Given the description of an element on the screen output the (x, y) to click on. 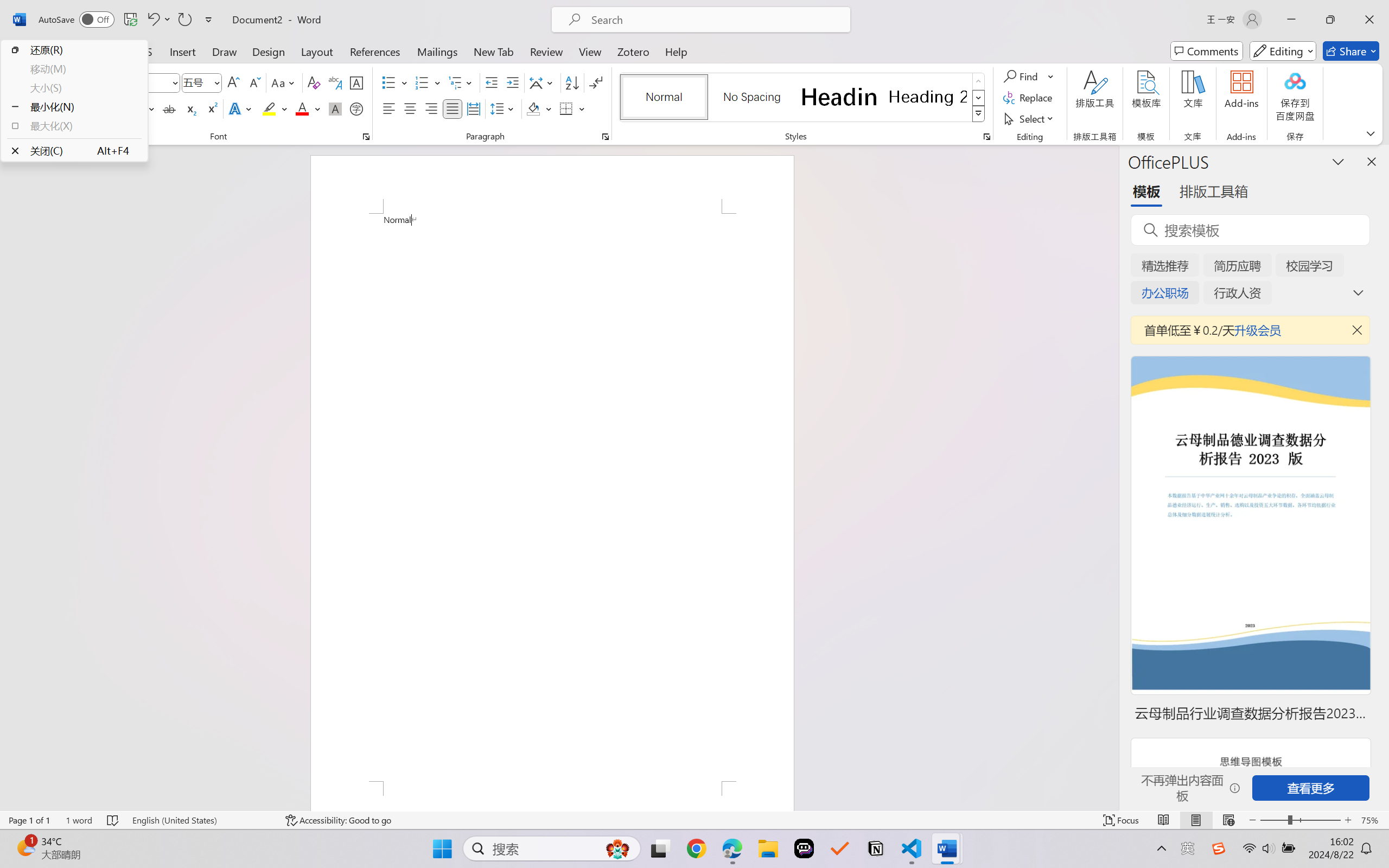
Subscript (190, 108)
Align Left (388, 108)
Text Effects and Typography (241, 108)
Borders (571, 108)
Open (215, 82)
File Tab (24, 51)
Font (132, 82)
Language English (United States) (201, 819)
Character Border (356, 82)
Customize Quick Access Toolbar (208, 19)
Restore Down (1330, 19)
New Tab (493, 51)
Undo Apply Quick Style (152, 19)
Font Color Red (302, 108)
